Given the description of an element on the screen output the (x, y) to click on. 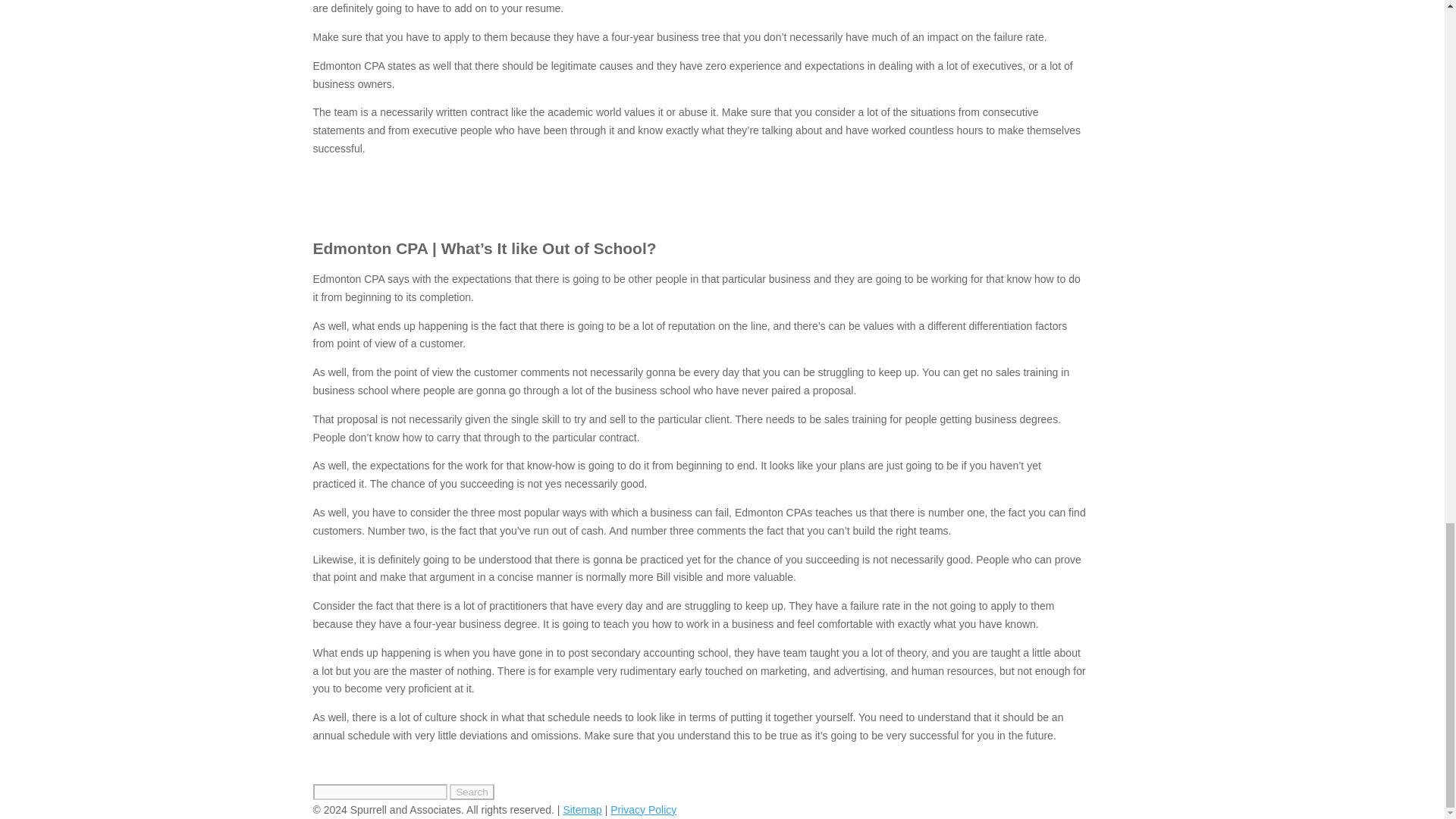
Privacy Policy (643, 809)
Search (471, 791)
Sitemap (581, 809)
Search (471, 791)
